Given the description of an element on the screen output the (x, y) to click on. 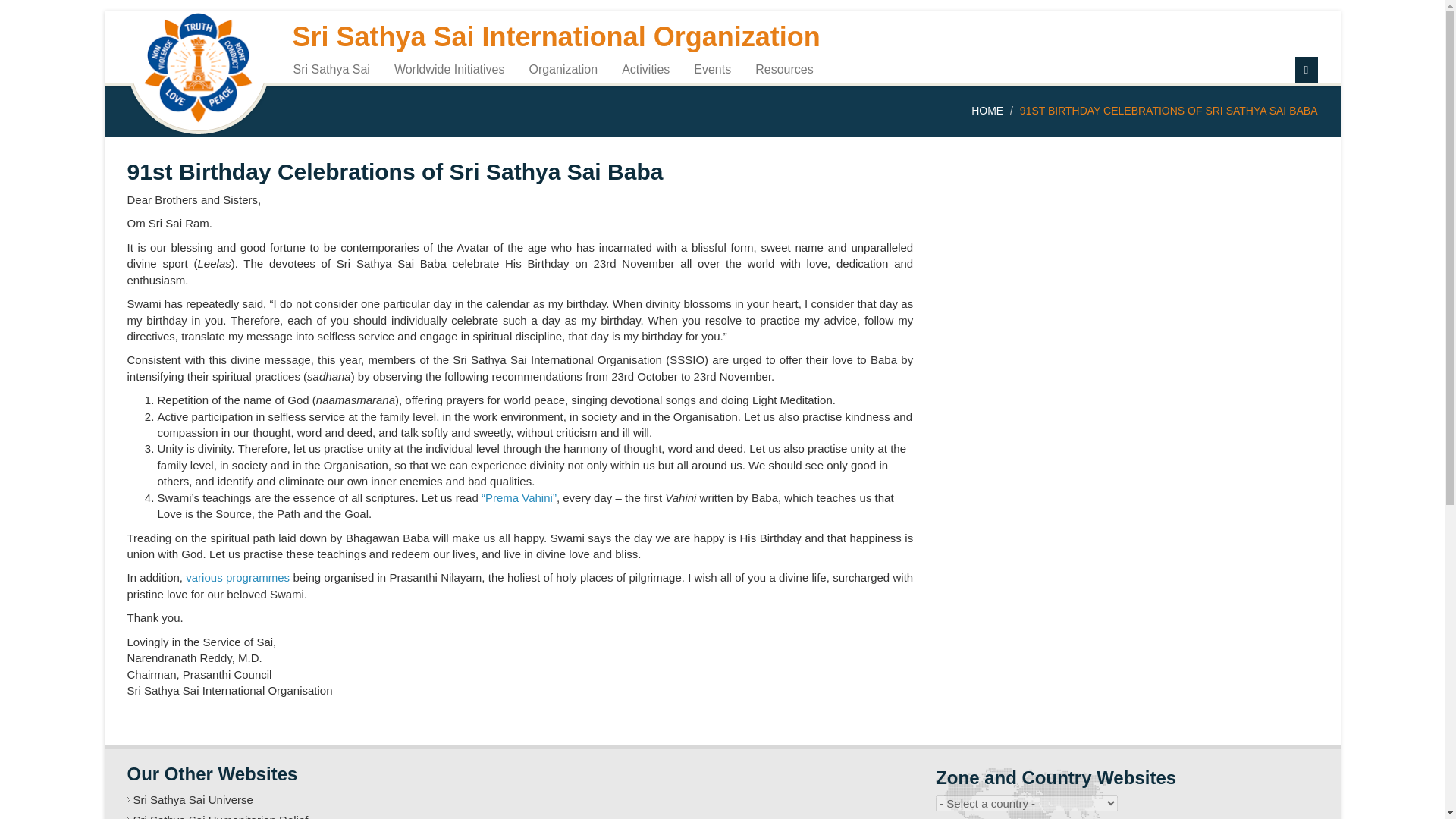
Organization (562, 69)
Sri Sathya Sai (331, 69)
Events (712, 69)
Worldwide Initiatives (449, 69)
Activities (645, 69)
